Given the description of an element on the screen output the (x, y) to click on. 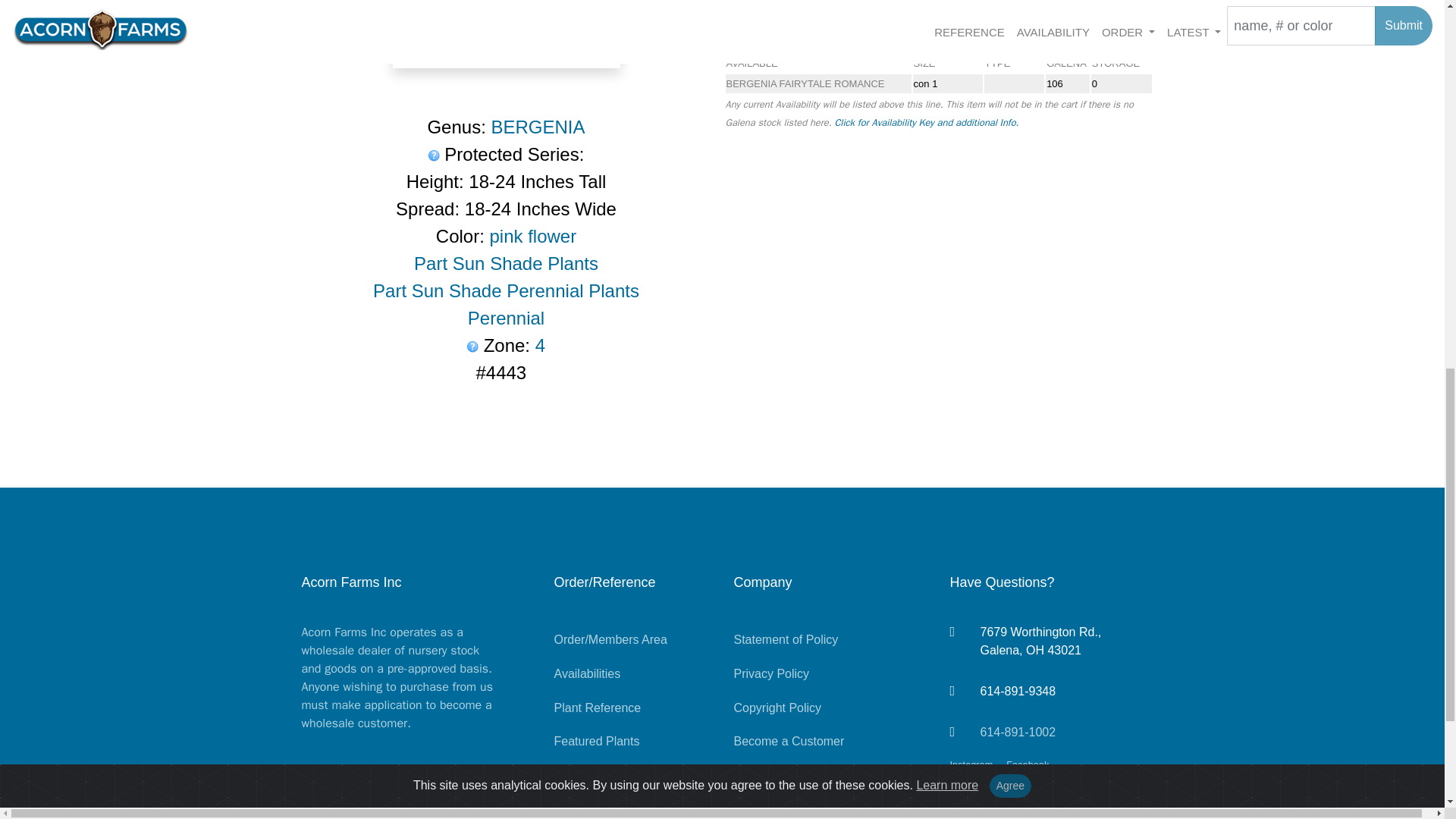
plant light attribute (505, 263)
Other plants of this type (505, 317)
plant light attribute (505, 290)
Part Sun Shade Perennial Plants (505, 290)
Part Sun Shade Plants (505, 263)
BERGENIA (538, 127)
Perennial (505, 317)
Other plants in this same genus (538, 127)
pink flower (532, 236)
Find your zone (473, 346)
plant color  (532, 236)
